Given the description of an element on the screen output the (x, y) to click on. 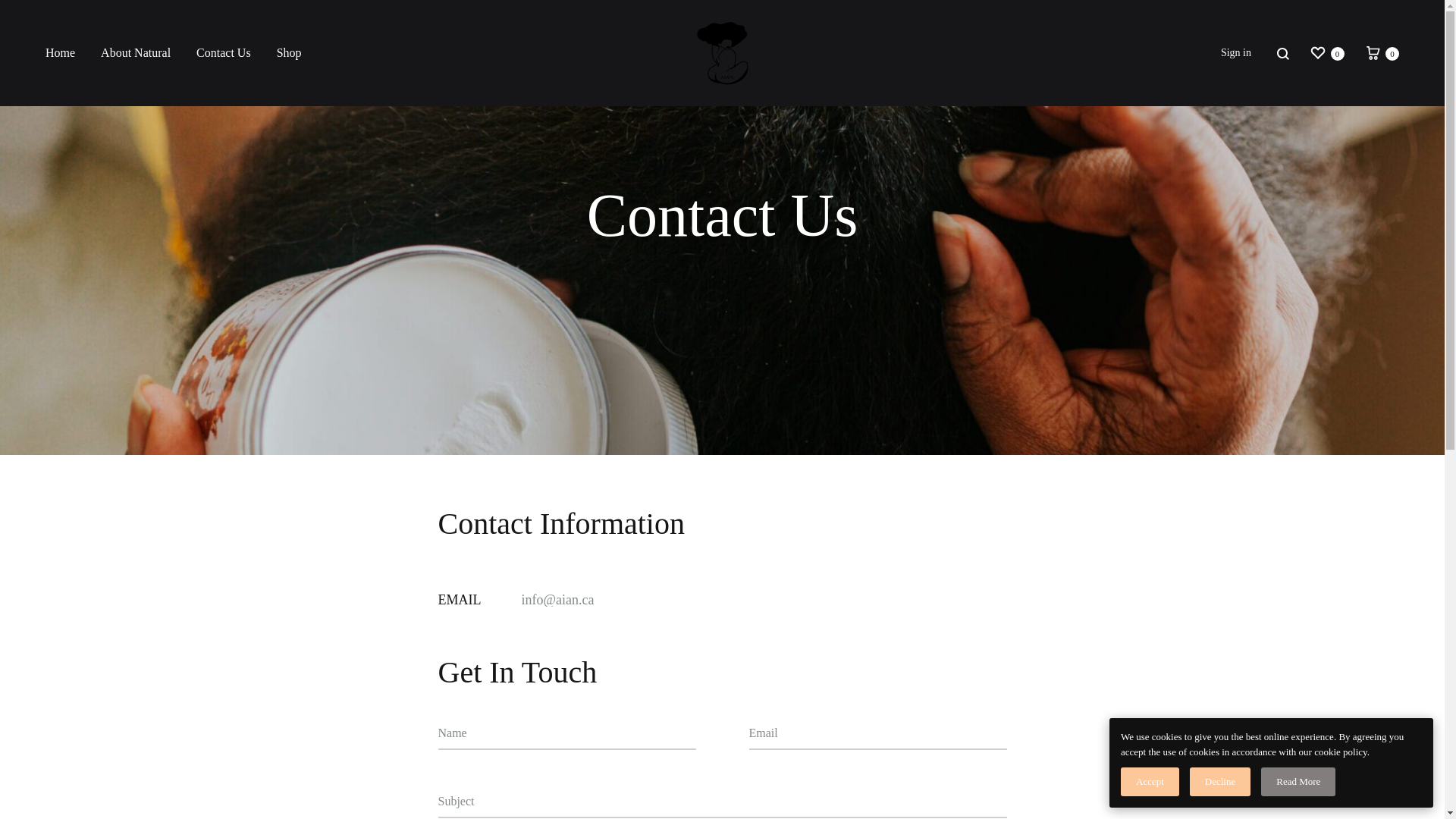
About Natural Element type: text (135, 52)
Read More Element type: text (1298, 781)
Contact Us Element type: text (223, 52)
Sign in Element type: text (1235, 52)
0 Element type: text (1383, 758)
info@aian.ca Element type: text (557, 599)
Shop Element type: text (288, 52)
Wishlist
0 Element type: text (1326, 52)
Home Element type: text (60, 52)
Cart
0 Element type: text (1381, 52)
